Given the description of an element on the screen output the (x, y) to click on. 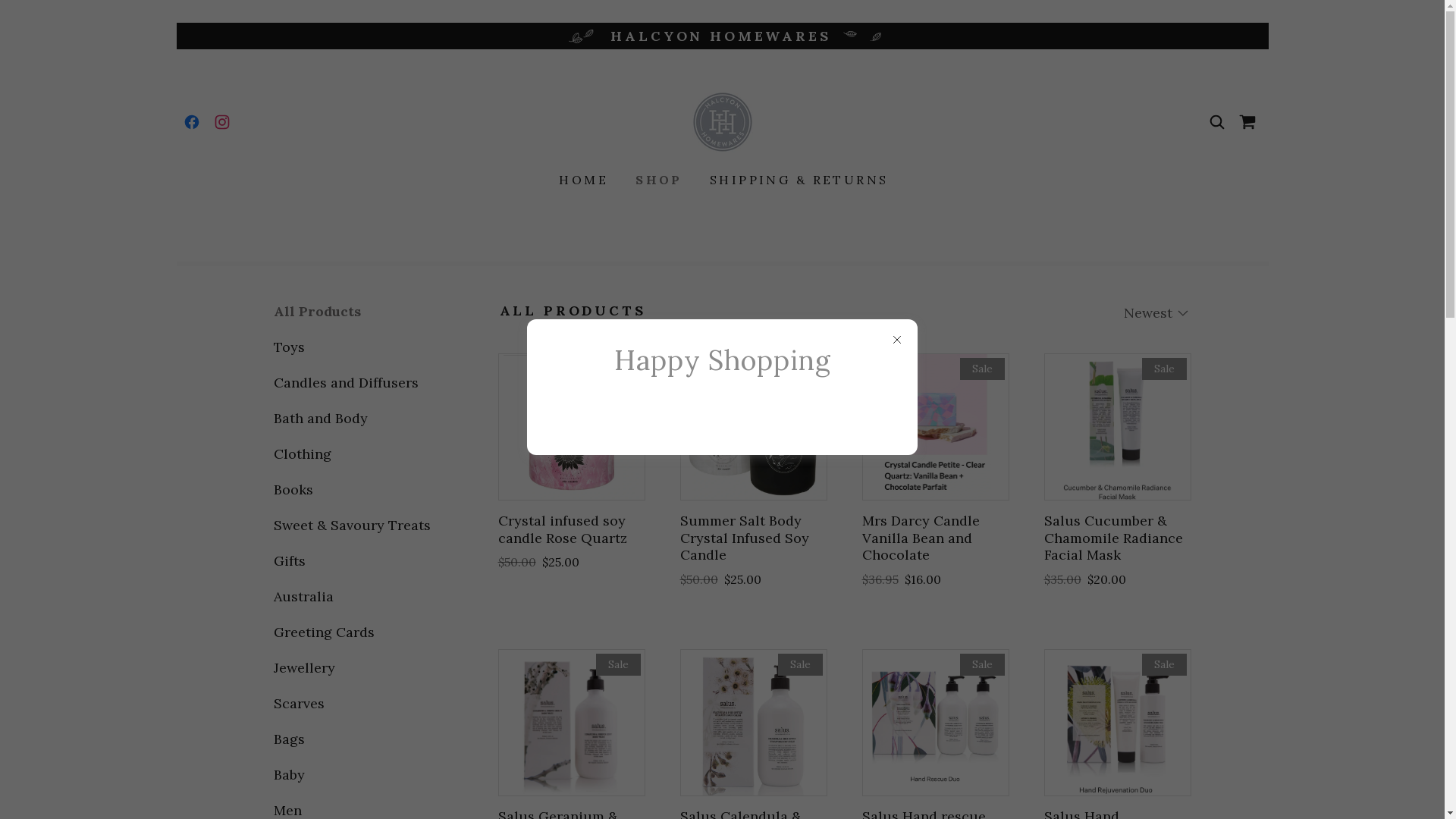
Sale
Crystal infused soy candle Rose Quartz
$50.00
$25.00 Element type: text (570, 462)
Candles and Diffusers Element type: text (357, 382)
SHOP Element type: text (657, 179)
Greeting Cards Element type: text (357, 631)
Bath and Body Element type: text (357, 417)
Halcyon Homewares Element type: hover (721, 120)
Bags Element type: text (357, 738)
Scarves Element type: text (357, 703)
Gifts Element type: text (357, 560)
Australia Element type: text (357, 596)
Baby Element type: text (357, 774)
HOME Element type: text (581, 179)
All Products Element type: text (357, 311)
Clothing Element type: text (357, 453)
Books Element type: text (357, 489)
SHIPPING & RETURNS Element type: text (797, 179)
Newest Element type: text (1156, 311)
Jewellery Element type: text (357, 667)
Sweet & Savoury Treats Element type: text (357, 524)
Toys Element type: text (357, 346)
